Given the description of an element on the screen output the (x, y) to click on. 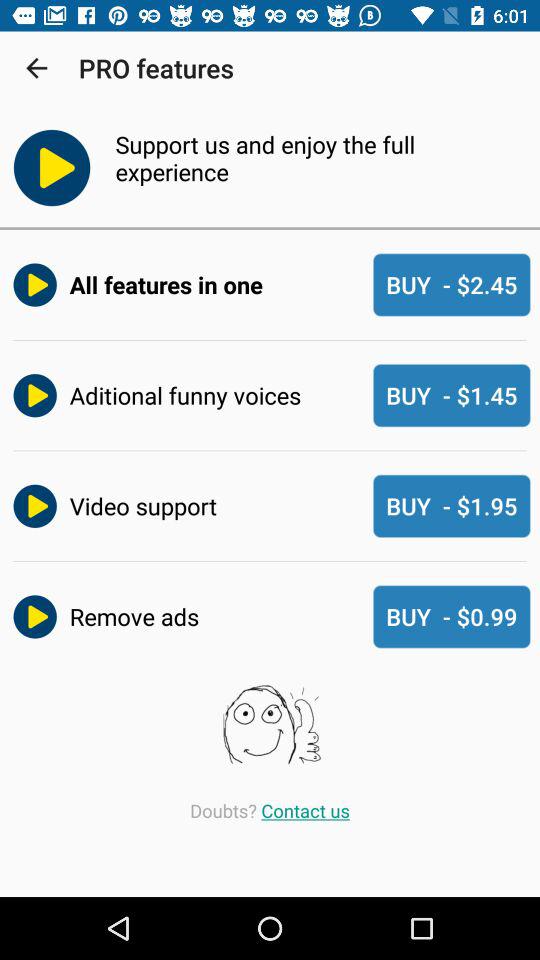
open the app to the left of the pro features icon (36, 68)
